Given the description of an element on the screen output the (x, y) to click on. 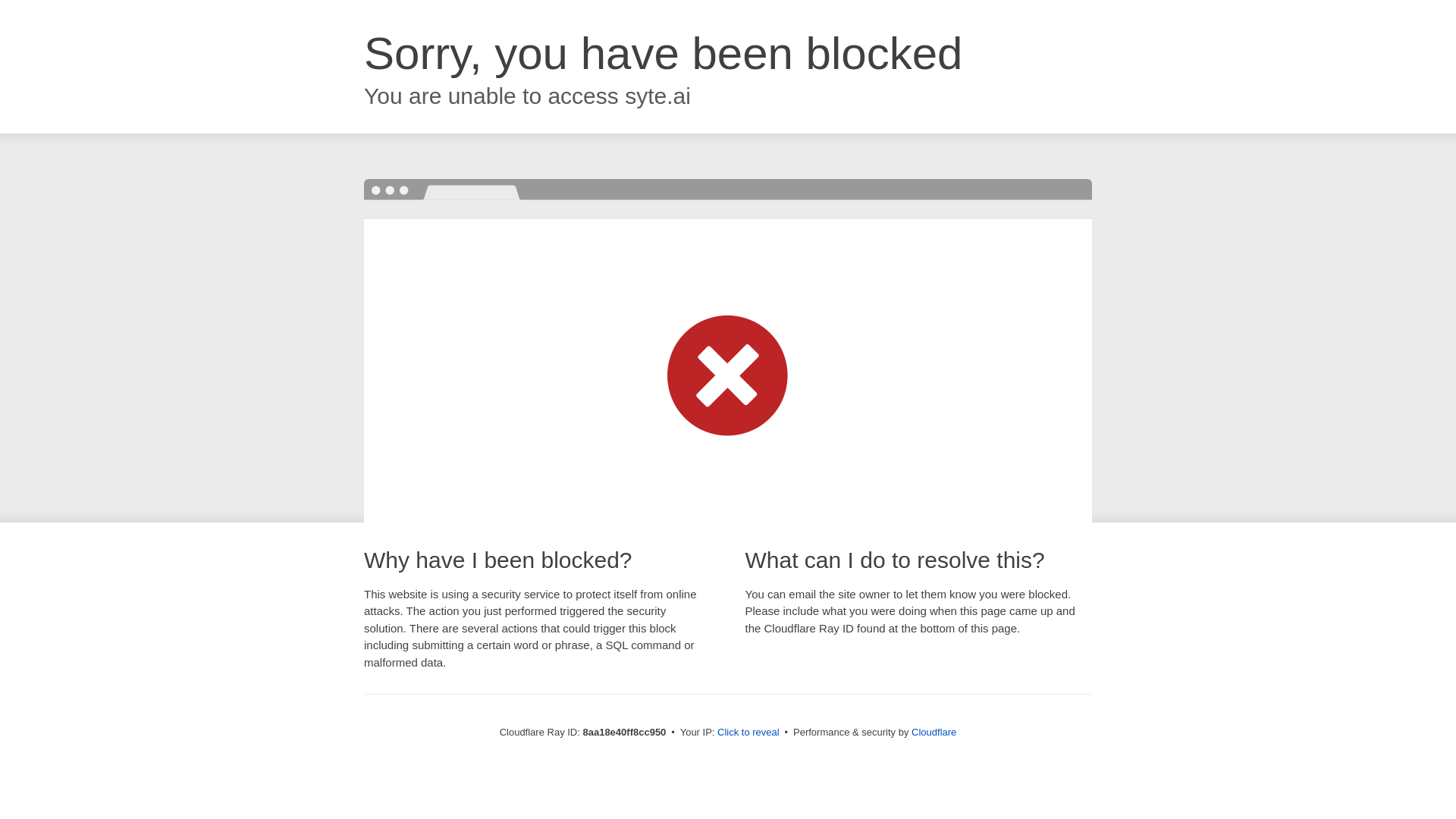
Cloudflare (933, 731)
Click to reveal (747, 732)
